Given the description of an element on the screen output the (x, y) to click on. 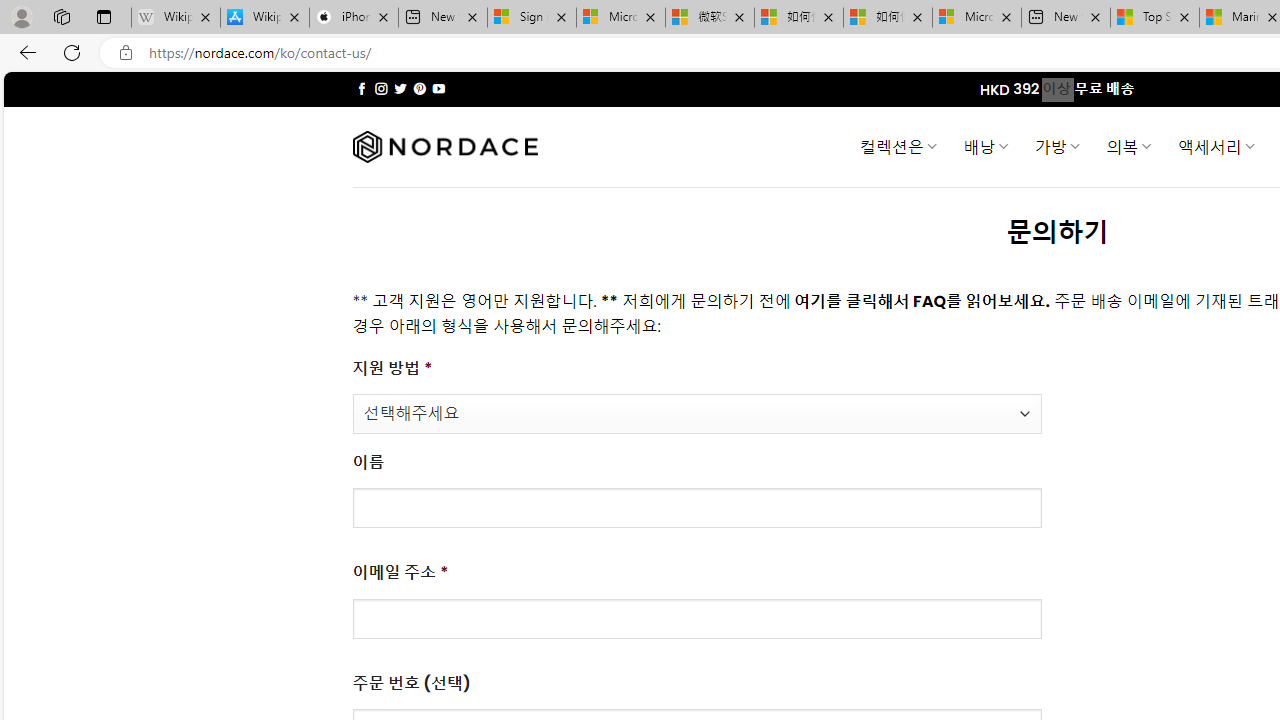
Follow on Instagram (381, 88)
Follow on Pinterest (419, 88)
Sign in to your Microsoft account (531, 17)
Microsoft Services Agreement (621, 17)
